Given the description of an element on the screen output the (x, y) to click on. 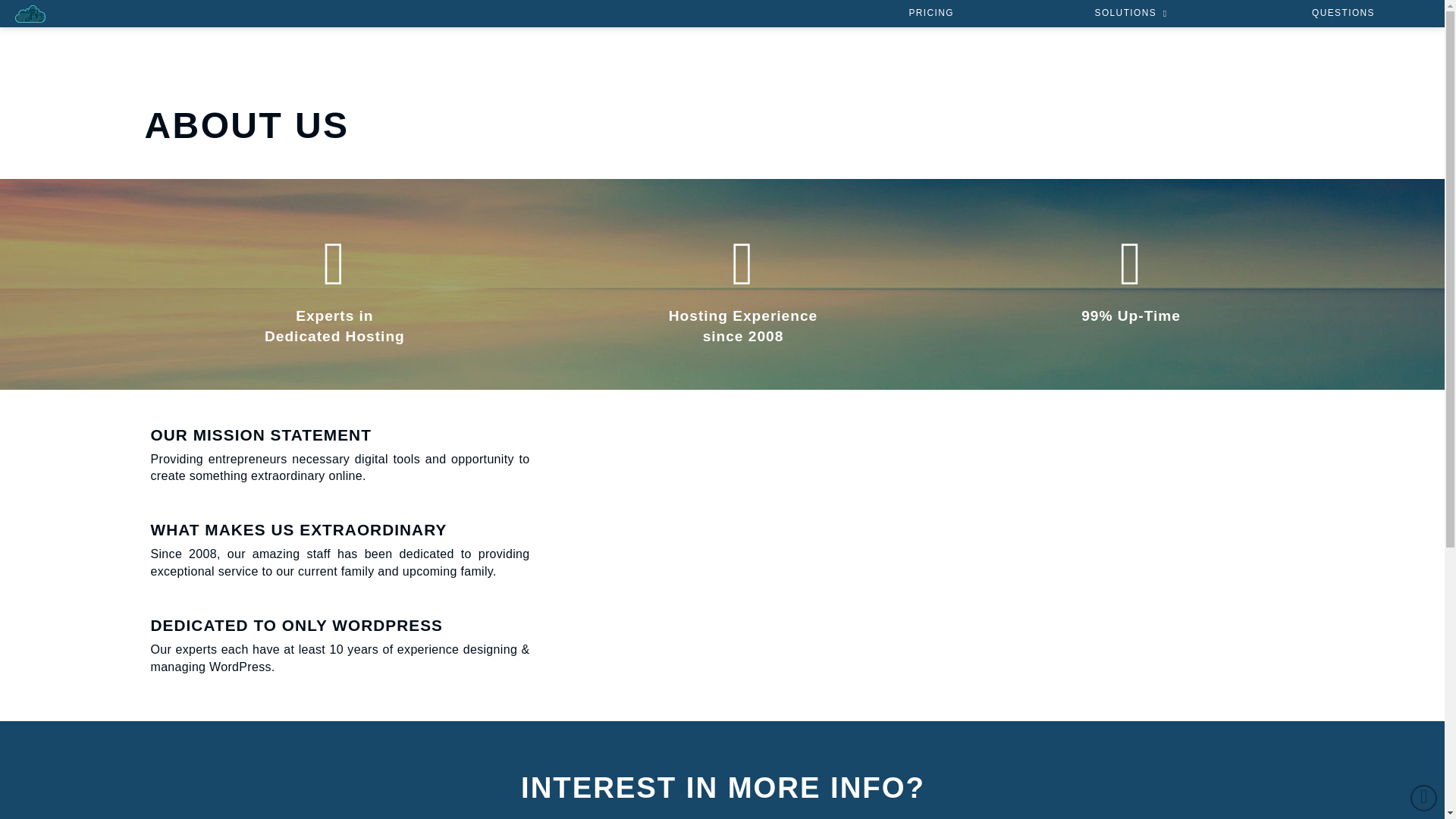
SOLUTIONS (1132, 13)
PRICING (930, 13)
Back to Top (1423, 797)
